Given the description of an element on the screen output the (x, y) to click on. 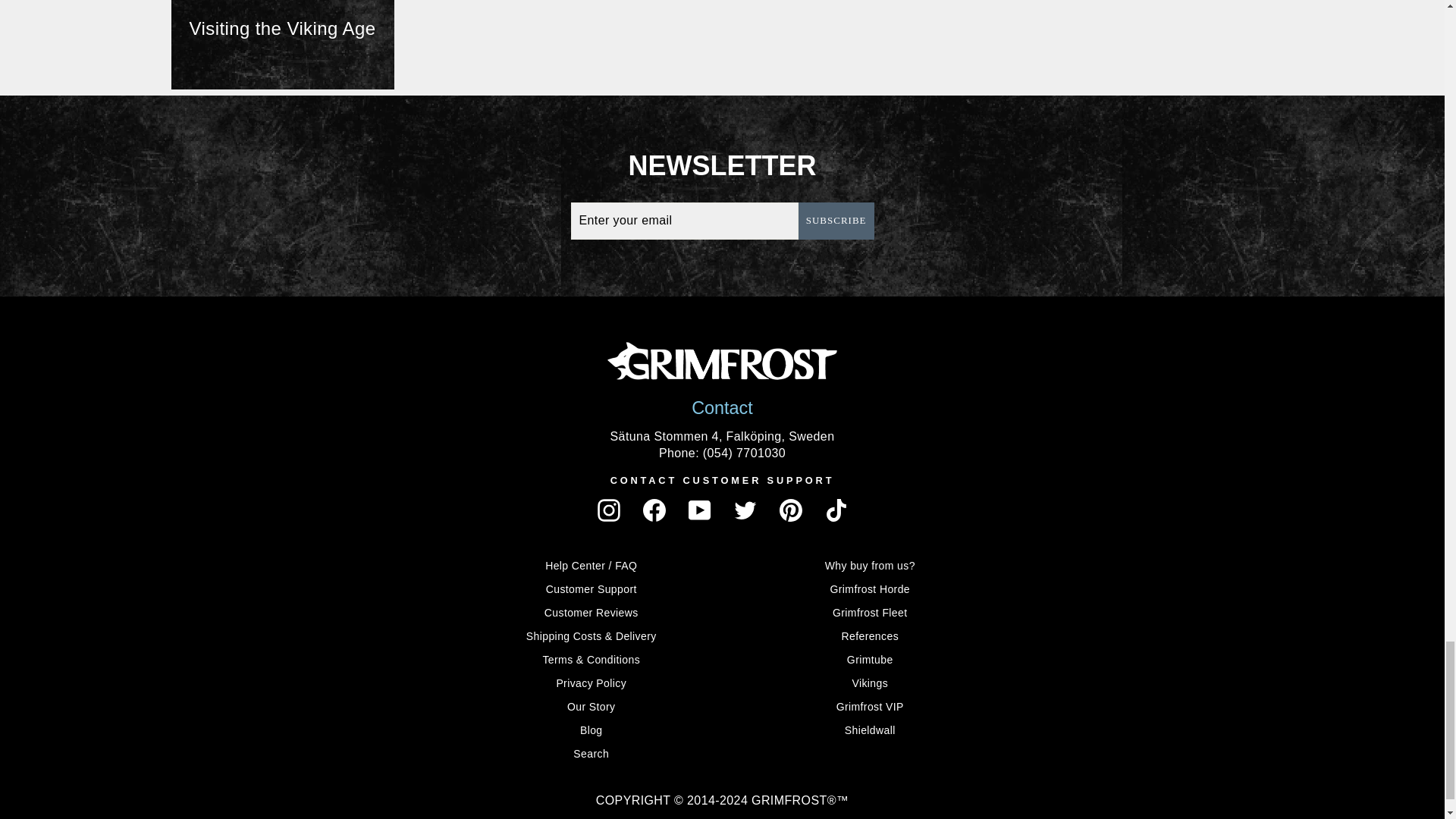
Grimfrost on YouTube (699, 509)
Grimfrost on Twitter (745, 509)
Grimfrost on Instagram (608, 509)
Grimfrost on TikTok (836, 509)
Grimfrost on Facebook (654, 509)
Grimfrost on Pinterest (790, 509)
Show articles tagged Visiting the Viking Age (282, 44)
